Given the description of an element on the screen output the (x, y) to click on. 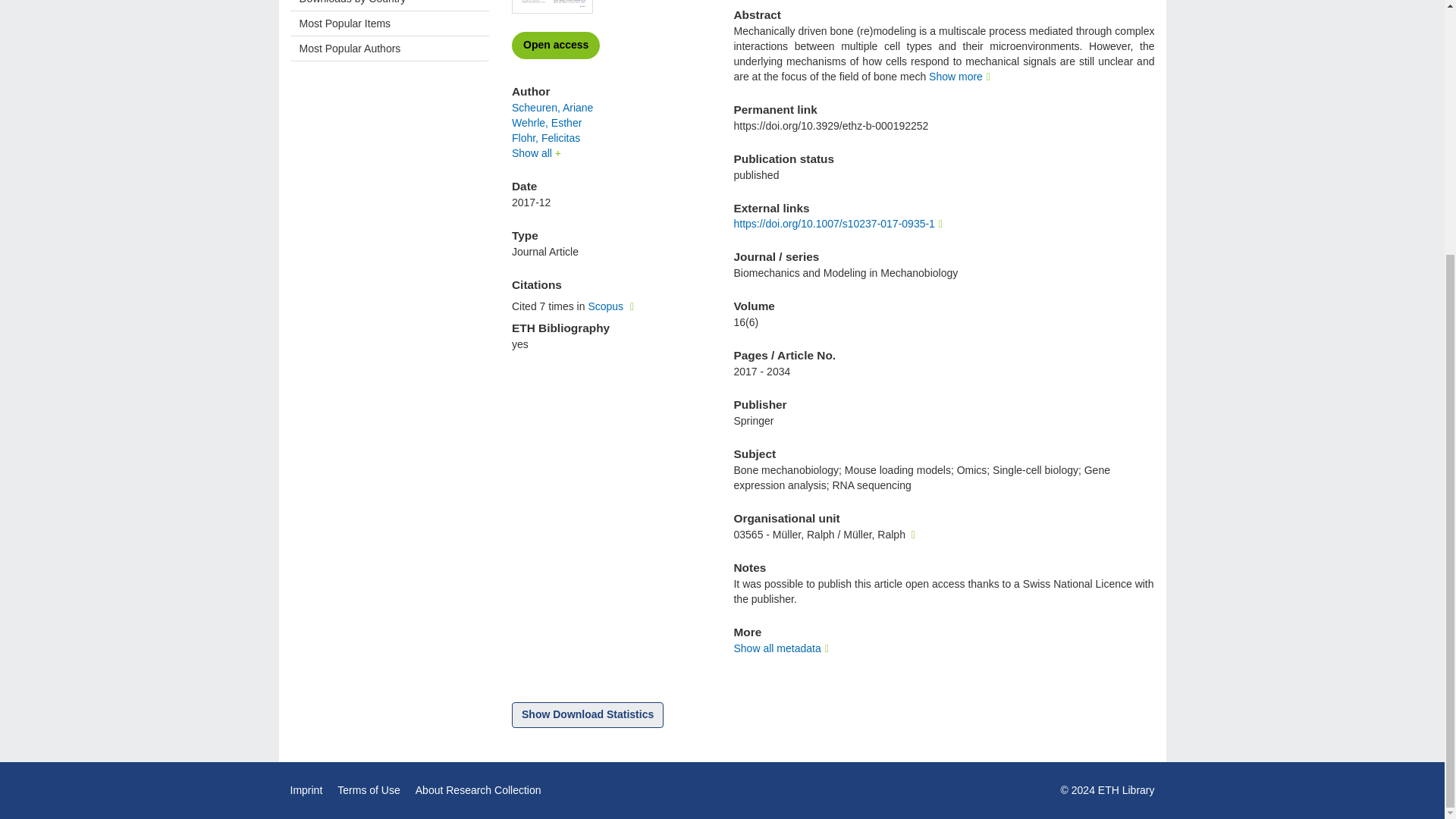
Scopus (612, 306)
Wehrle, Esther (546, 122)
Show all (536, 152)
Show Download Statistics (587, 714)
Flohr, Felicitas (545, 137)
Show all metadata (782, 648)
Show more (961, 76)
Scheuren, Ariane (552, 107)
